Given the description of an element on the screen output the (x, y) to click on. 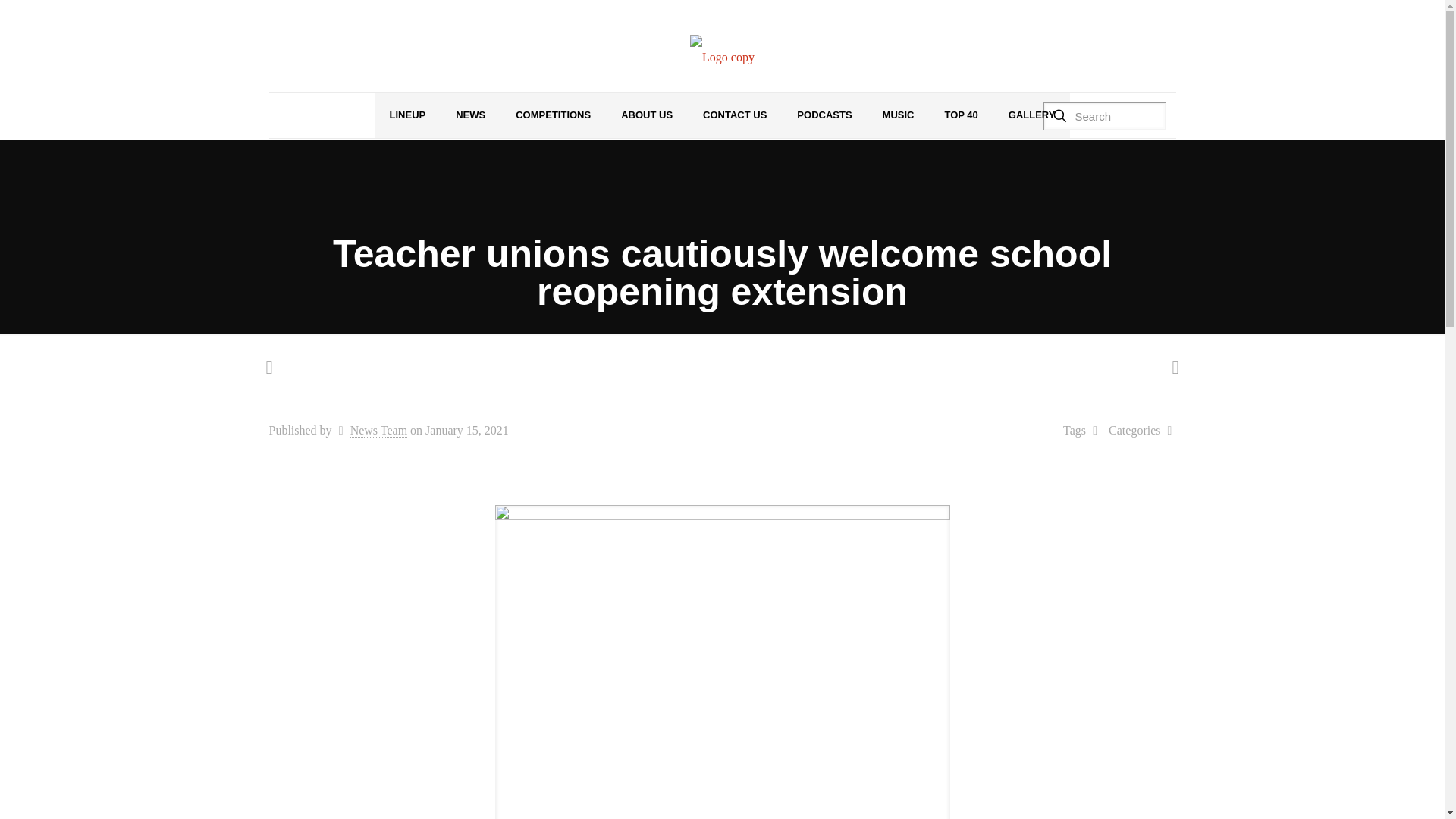
LINEUP (407, 115)
TOP 40 (960, 115)
CONTACT US (734, 115)
COMPETITIONS (552, 115)
PODCASTS (823, 115)
GALLERY (1031, 115)
MUSIC (898, 115)
ABOUT US (646, 115)
NEWS (470, 115)
Capricorn FM (722, 56)
